Given the description of an element on the screen output the (x, y) to click on. 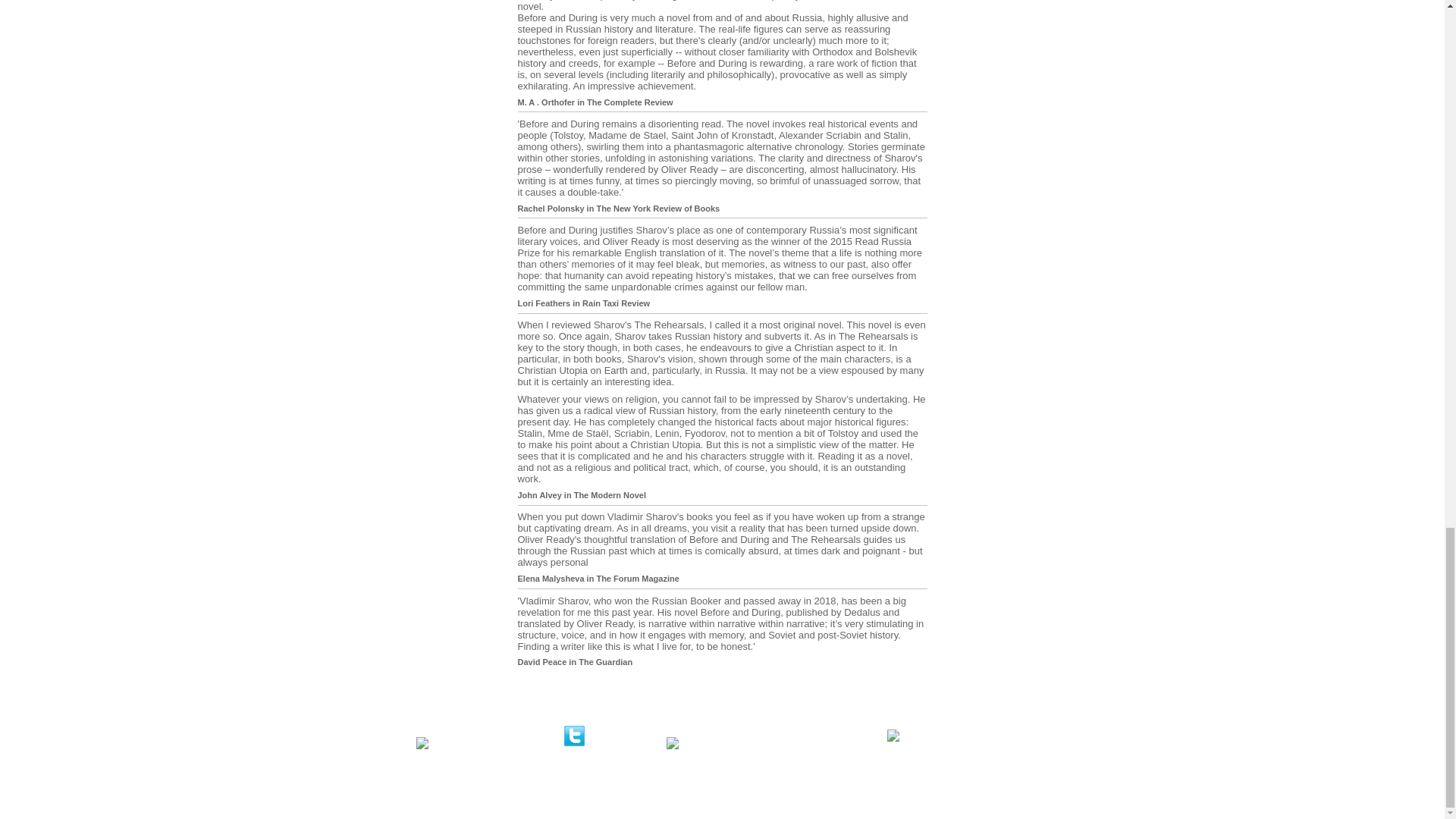
Visit us on Facebook (478, 742)
Facebook (478, 742)
Website designed by www.amazinginternet.com (438, 767)
Dedalus Books - part of Arts Council England (981, 759)
Vimeo (713, 742)
Visit us on Vimeo (713, 742)
Visit us on Twitter (589, 742)
Twitter (589, 742)
